Given the description of an element on the screen output the (x, y) to click on. 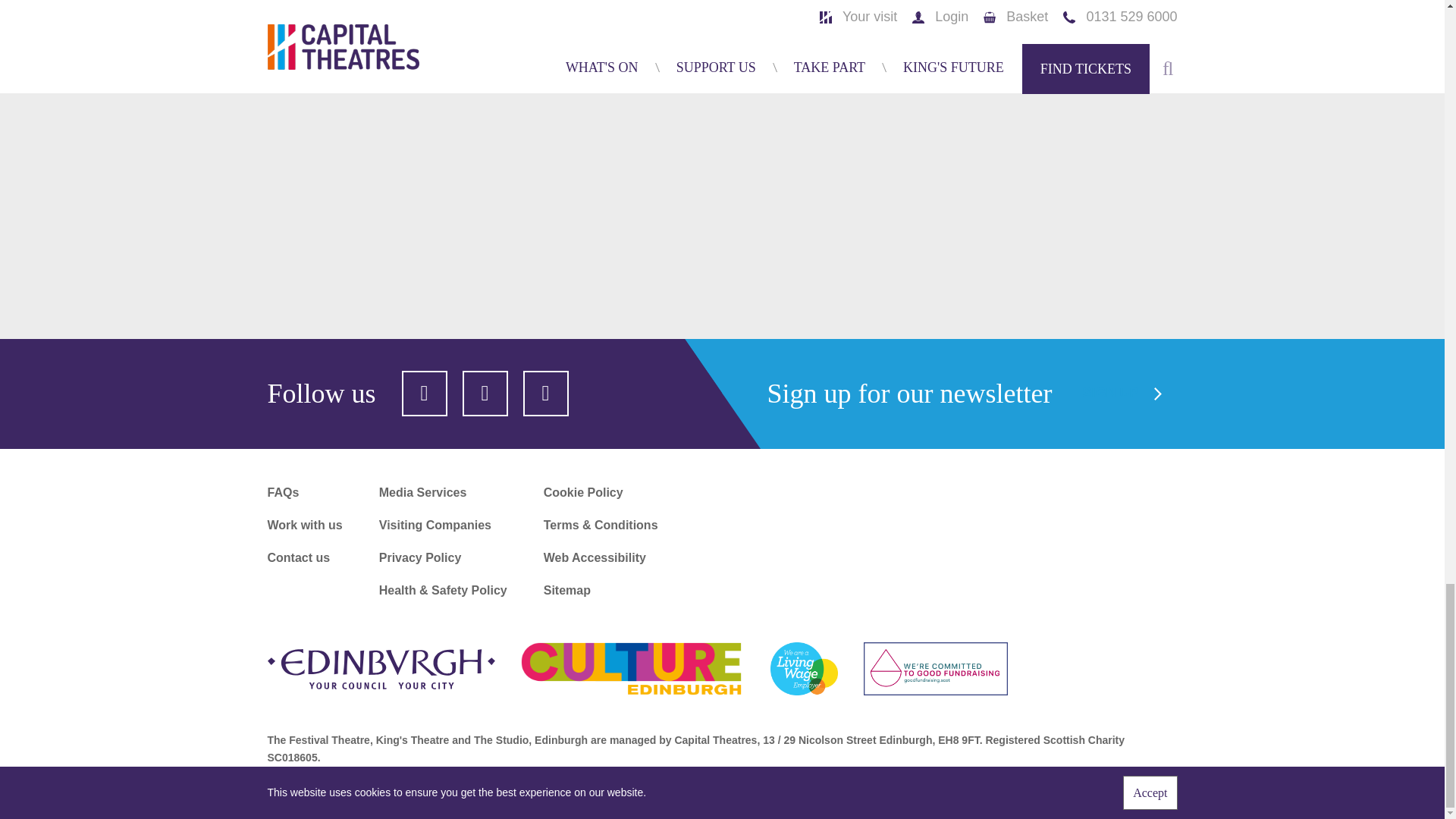
Work with us (304, 524)
Media Services (442, 492)
FAQs (304, 492)
Follow us on instagram (545, 393)
Privacy Policy (442, 557)
Follow us on twitter (423, 393)
Follow us on facebook (485, 393)
Visiting Companies (442, 524)
Cookie Policy (600, 492)
Contact us (304, 557)
SIGN UP (1123, 393)
